Given the description of an element on the screen output the (x, y) to click on. 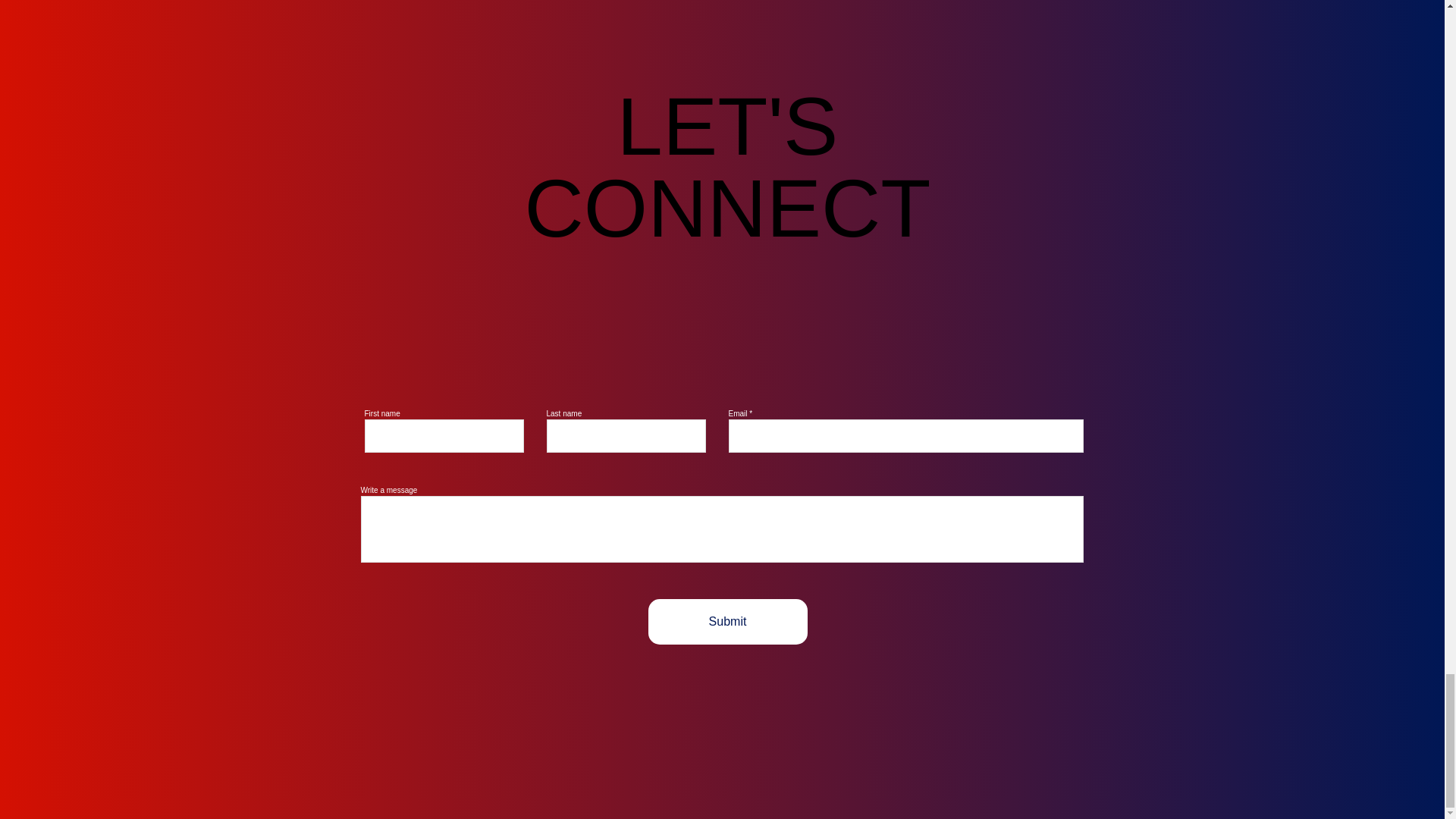
Submit (726, 621)
